Given the description of an element on the screen output the (x, y) to click on. 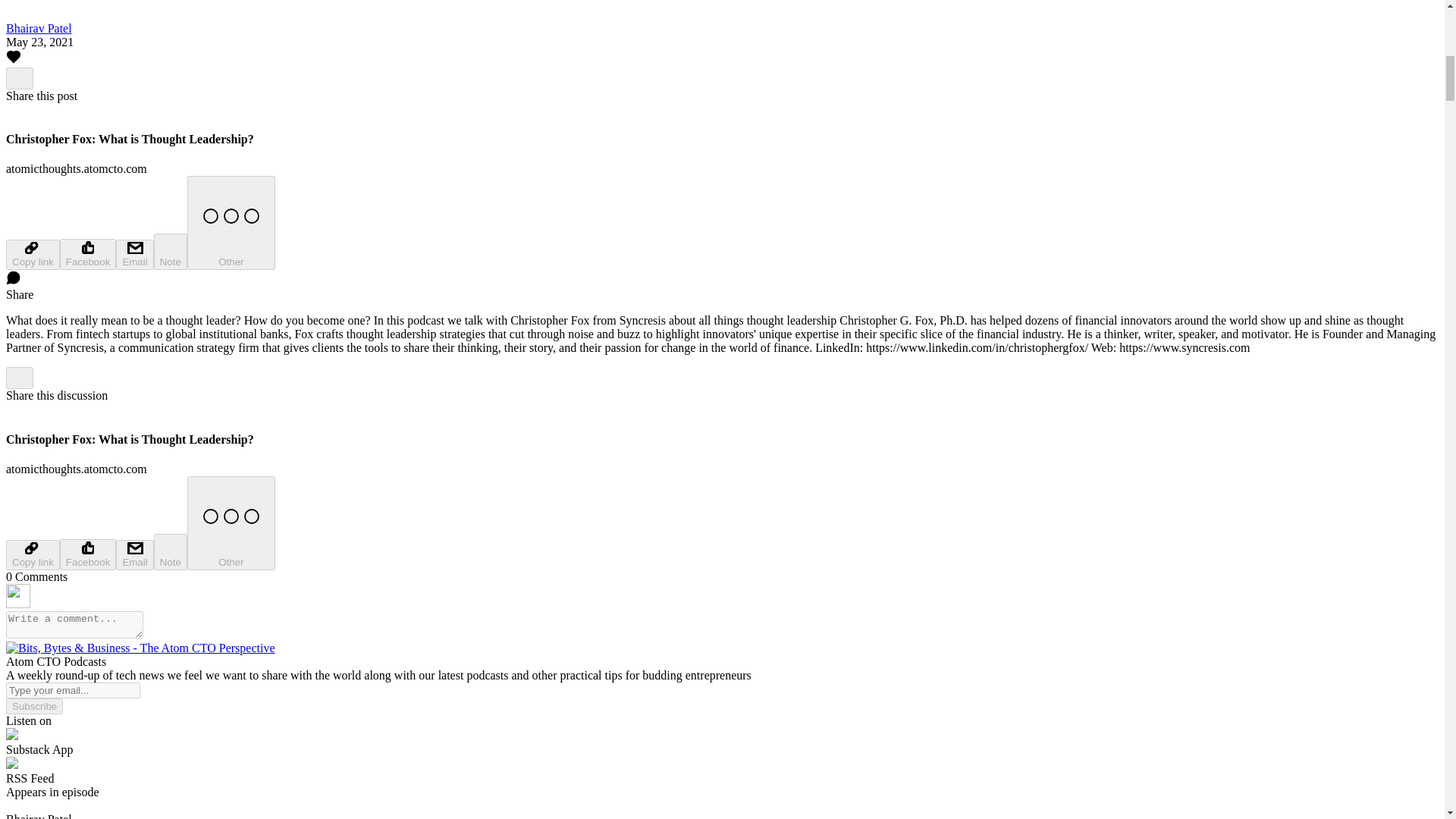
Other (231, 223)
Facebook (87, 554)
Bhairav Patel (38, 28)
Subscribe (33, 706)
Email (134, 554)
Copy link (32, 254)
Copy link (32, 554)
Note (170, 251)
Facebook (87, 254)
Note (170, 551)
Email (134, 254)
Other (231, 522)
